Given the description of an element on the screen output the (x, y) to click on. 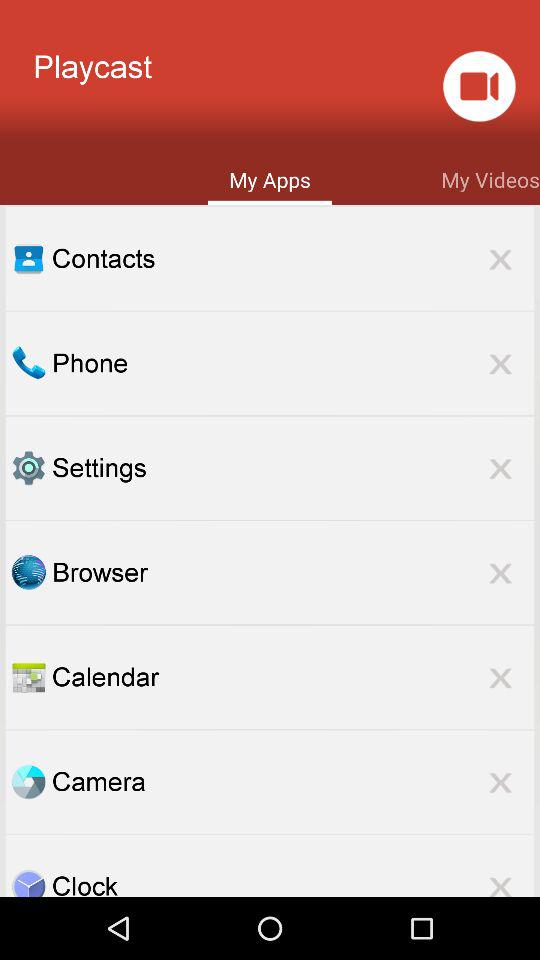
jump to phone item (293, 362)
